Given the description of an element on the screen output the (x, y) to click on. 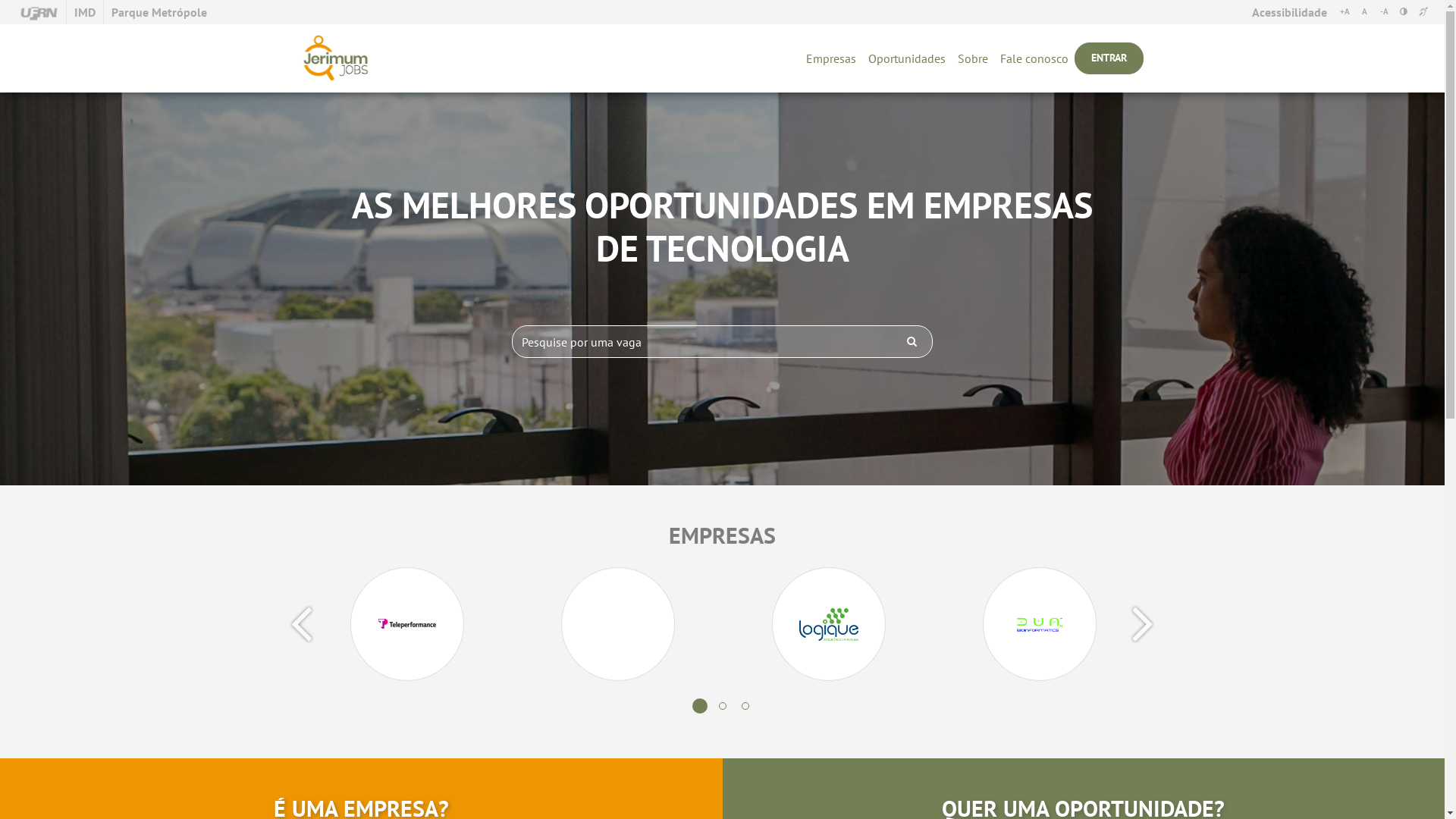
ALTO CONTRASTE [ALT + 6] [ALT + 6] Element type: text (1403, 11)
Fale conosco Element type: text (1034, 58)
3 Element type: text (740, 702)
A
TAMANHO DA LETRA NORMAL [ALT + 4] [ALT + 4] Element type: text (1364, 11)
Next Element type: text (1142, 621)
1 Element type: text (699, 705)
Previous Element type: text (300, 621)
Oportunidades Element type: text (906, 58)
UFRN Element type: hover (38, 12)
ENTRAR Element type: text (1108, 58)
-A
REDUZIR TAMANHO DA LETRA [ALT + 5] [ALT + 5] Element type: text (1383, 11)
IMD Element type: text (84, 12)
Empresas Element type: text (831, 58)
2 Element type: text (722, 705)
+A
AUMENTAR TAMANHO DA LETRA [ALT + 3] [ALT + 3] Element type: text (1344, 11)
Sobre Element type: text (972, 58)
VLIBRAS [ALT + 7] [ALT + 7] Element type: text (1423, 11)
Acessibilidade Element type: text (1289, 12)
